Given the description of an element on the screen output the (x, y) to click on. 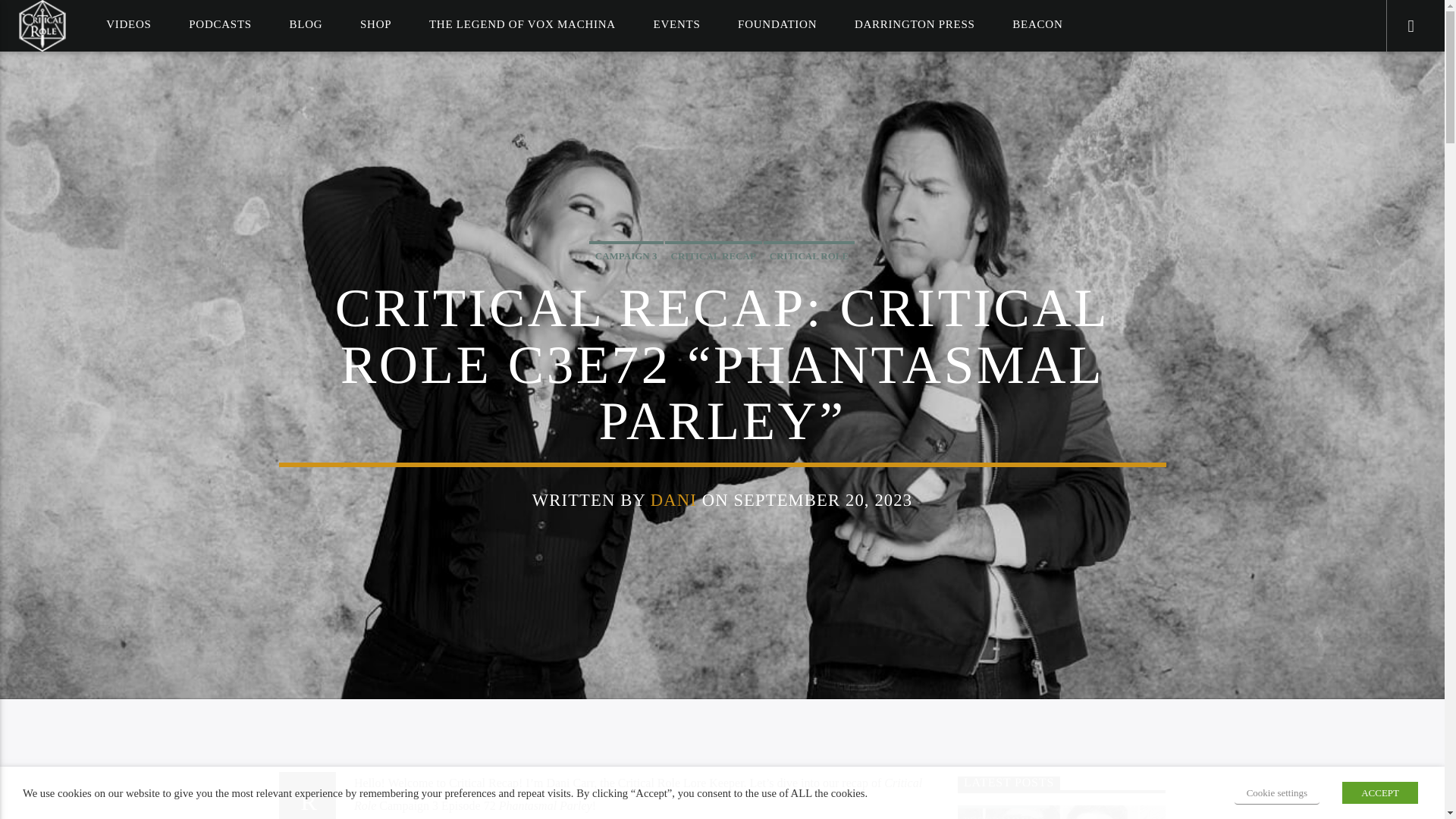
FOUNDATION (777, 24)
VIDEOS (128, 24)
DARRINGTON PRESS (914, 24)
THE LEGEND OF VOX MACHINA (522, 24)
EVENTS (676, 24)
SHOP (376, 24)
PODCASTS (219, 24)
Posts by Dani (673, 499)
BLOG (305, 24)
BEACON (1037, 24)
